Given the description of an element on the screen output the (x, y) to click on. 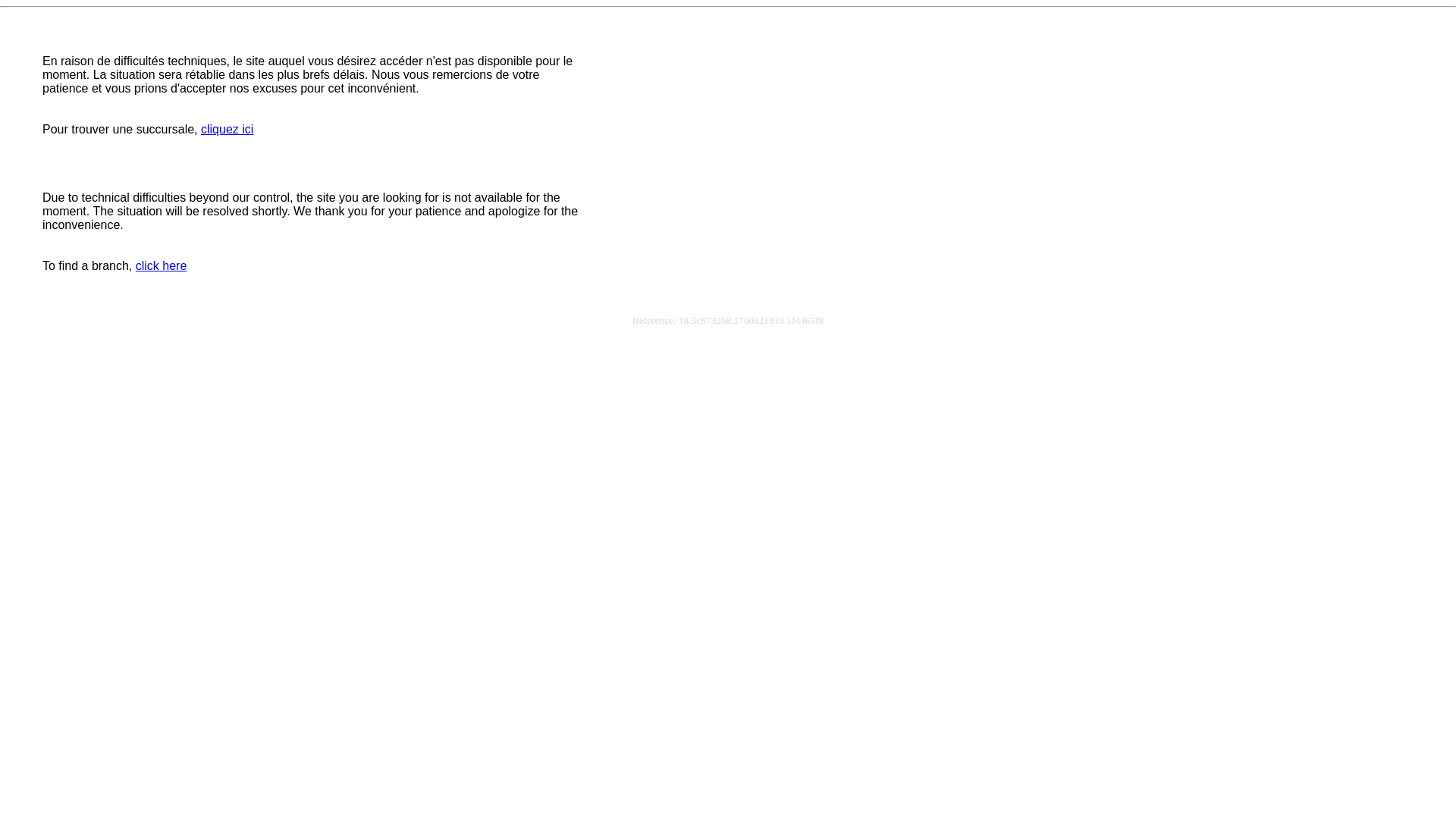
cliquez ici Element type: text (226, 128)
click here Element type: text (161, 265)
